Given the description of an element on the screen output the (x, y) to click on. 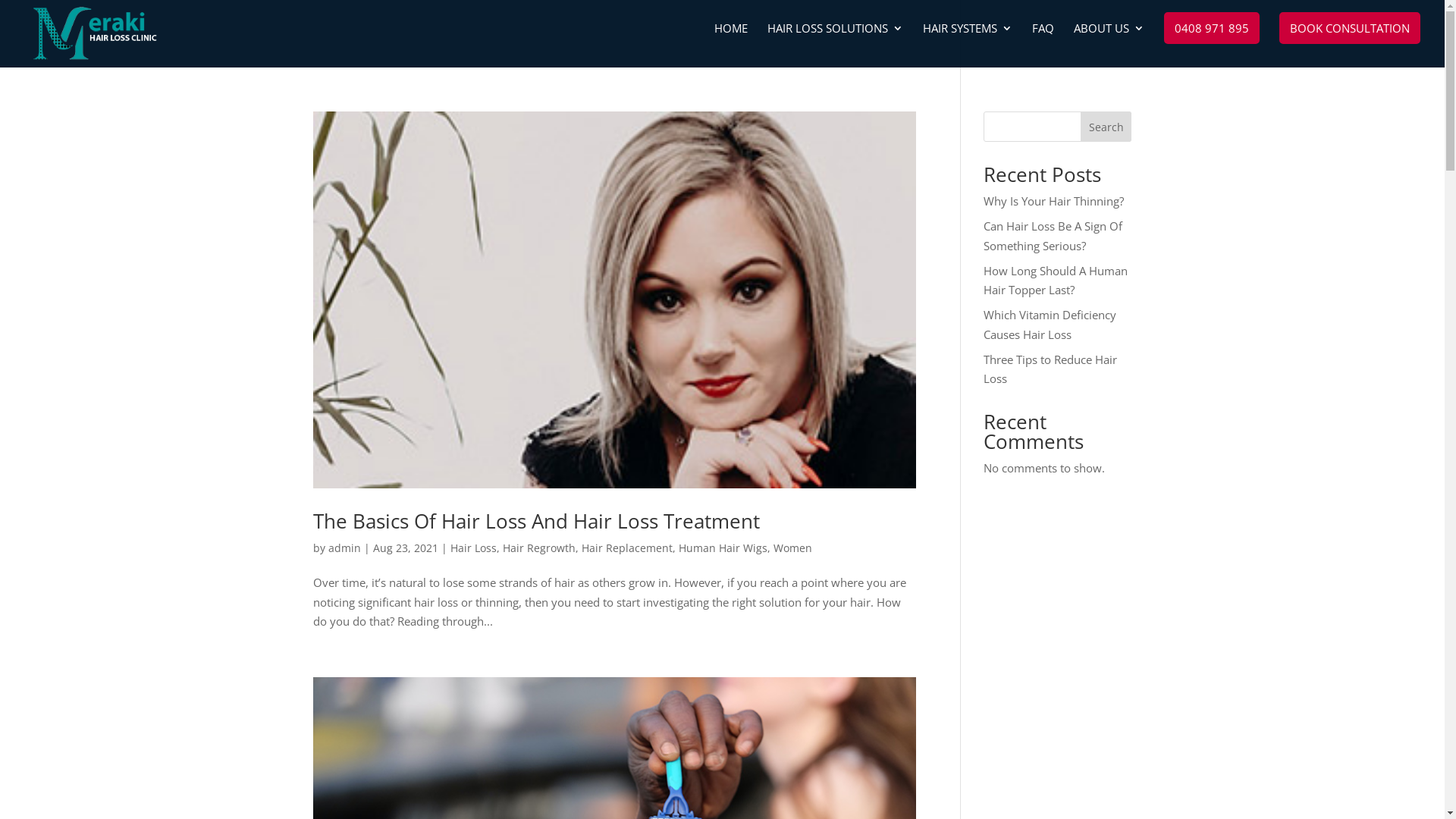
Women Element type: text (792, 547)
admin Element type: text (343, 547)
HOME Element type: text (730, 44)
Search Element type: text (1106, 126)
ABOUT US Element type: text (1108, 44)
The Basics Of Hair Loss And Hair Loss Treatment Element type: text (535, 520)
Can Hair Loss Be A Sign Of Something Serious? Element type: text (1052, 235)
Which Vitamin Deficiency Causes Hair Loss Element type: text (1049, 324)
BOOK CONSULTATION Element type: text (1349, 27)
Three Tips to Reduce Hair Loss Element type: text (1050, 368)
How Long Should A Human Hair Topper Last? Element type: text (1055, 279)
HAIR LOSS SOLUTIONS Element type: text (835, 44)
HAIR SYSTEMS Element type: text (967, 44)
Hair Loss Element type: text (473, 547)
FAQ Element type: text (1043, 44)
Hair Replacement Element type: text (625, 547)
Hair Regrowth Element type: text (538, 547)
Human Hair Wigs Element type: text (721, 547)
Why Is Your Hair Thinning? Element type: text (1053, 200)
0408 971 895 Element type: text (1211, 27)
